Given the description of an element on the screen output the (x, y) to click on. 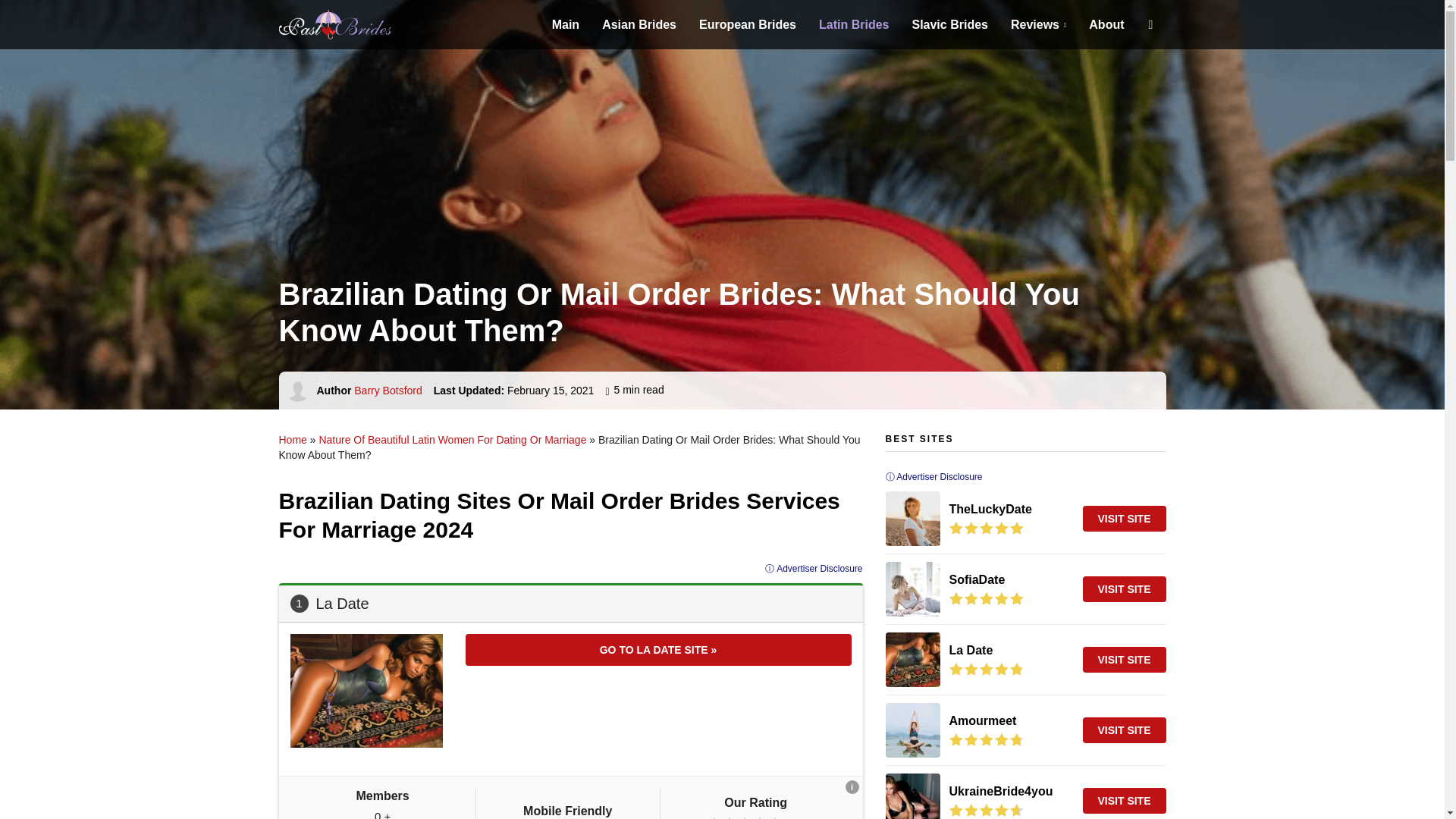
Barry Botsford (387, 389)
Home (293, 439)
Our Score (744, 818)
Nature Of Beautiful Latin Women For Dating Or Marriage (452, 439)
Our Score (986, 668)
Reviews (1037, 23)
Slavic Brides (949, 23)
About (1106, 23)
Latin Brides (853, 23)
European Brides (747, 23)
Our Score (986, 809)
i (851, 786)
Our Score (986, 527)
Pastbrides (354, 24)
Our Score (986, 739)
